Given the description of an element on the screen output the (x, y) to click on. 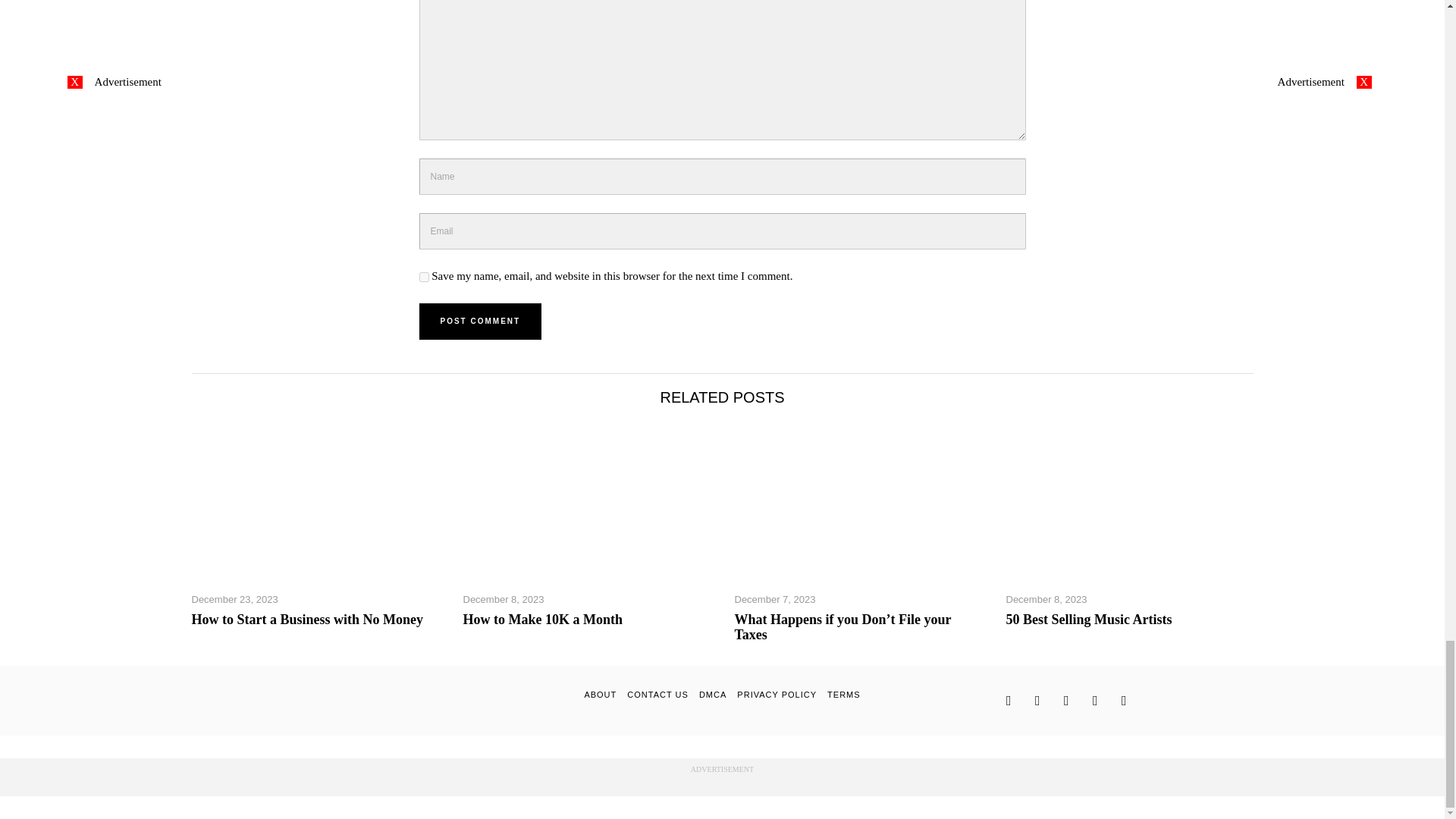
08 Dec, 2023 12:50:46 (503, 599)
07 Dec, 2023 16:39:50 (774, 599)
08 Dec, 2023 10:48:15 (1046, 599)
Post Comment (480, 321)
yes (423, 276)
23 Dec, 2023 13:14:23 (234, 599)
